Given the description of an element on the screen output the (x, y) to click on. 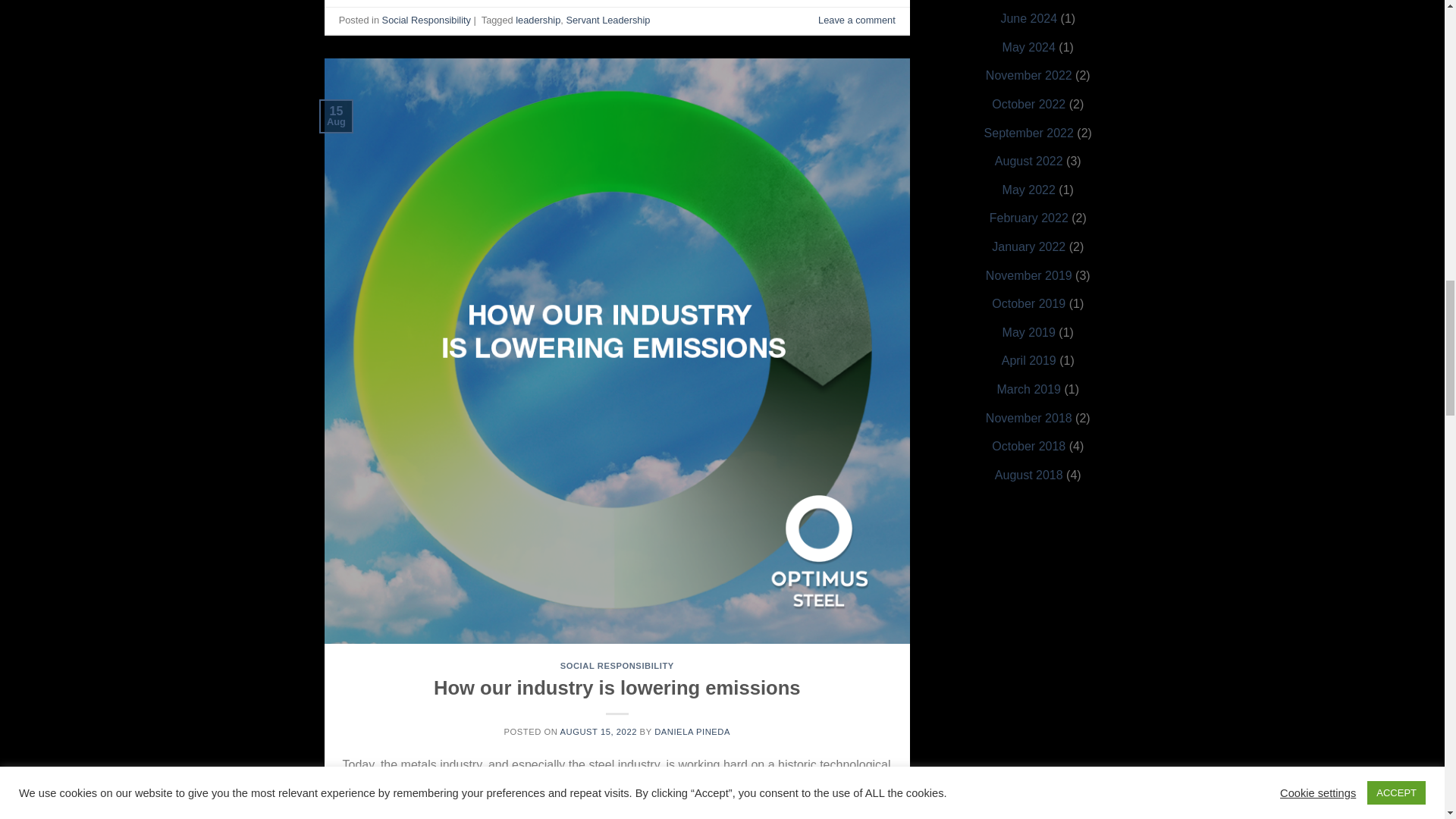
Social Responsibility (425, 19)
How our industry is lowering emissions (616, 687)
SOCIAL RESPONSIBILITY (617, 665)
AUGUST 15, 2022 (597, 731)
DANIELA PINEDA (691, 731)
Leave a comment (856, 19)
leadership (537, 19)
Servant Leadership (607, 19)
